Given the description of an element on the screen output the (x, y) to click on. 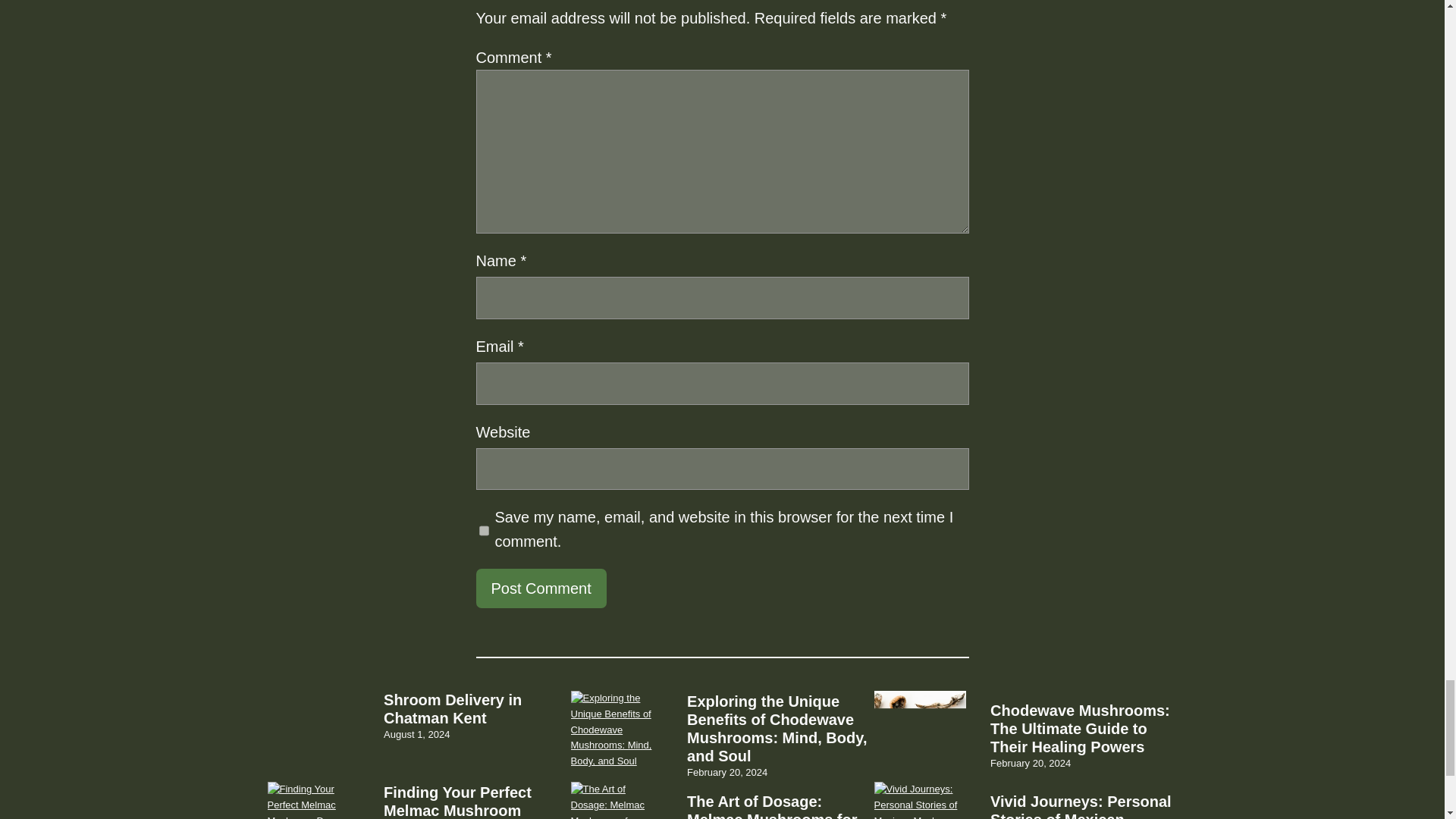
Post Comment (541, 588)
Shroom Delivery in Chatman Kent (477, 709)
Post Comment (541, 588)
